Given the description of an element on the screen output the (x, y) to click on. 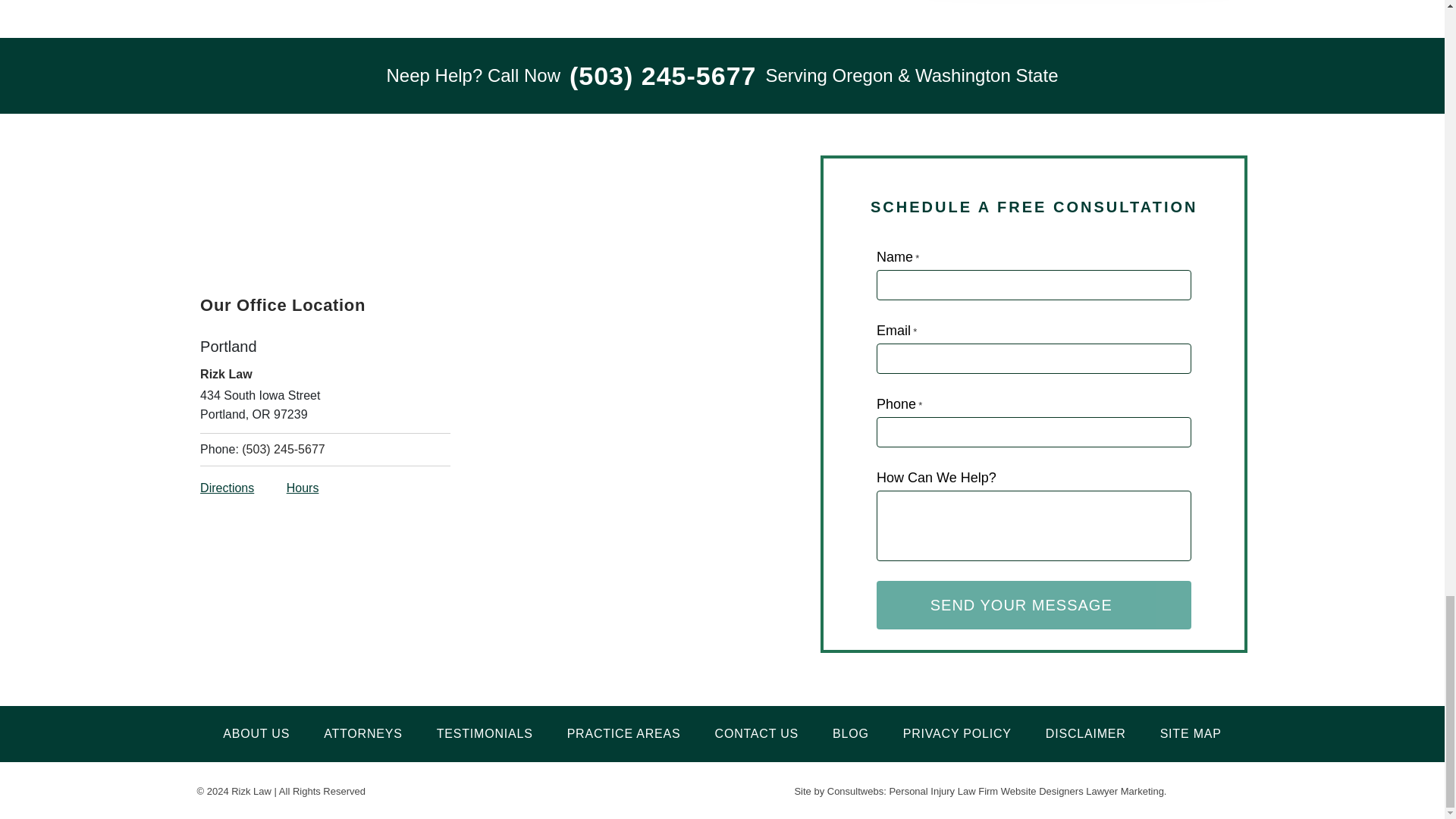
Send Your Message (1034, 604)
